Given the description of an element on the screen output the (x, y) to click on. 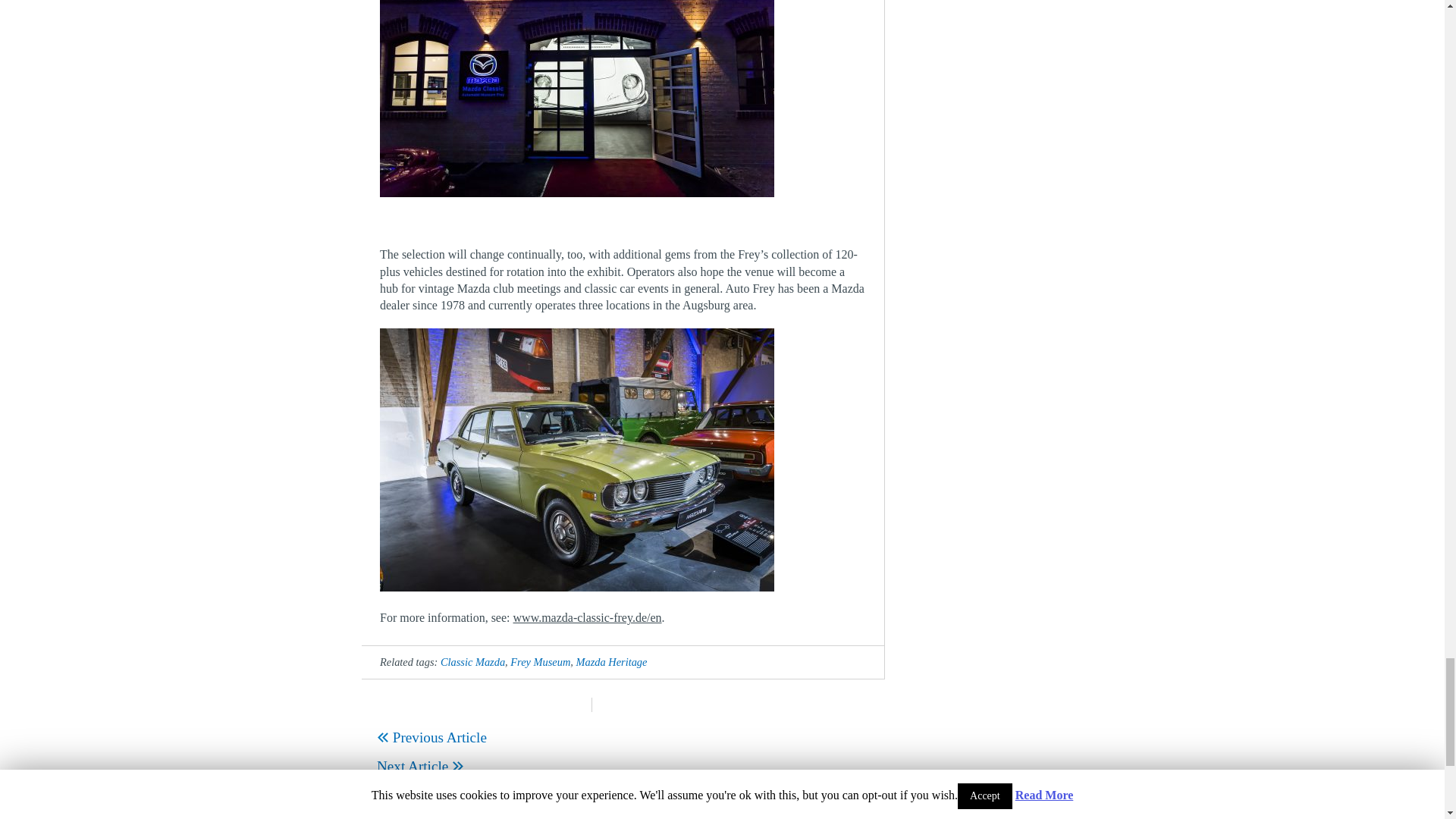
Classic Mazda (473, 662)
Previous Article (431, 737)
Frey Museum (540, 662)
Mazda Heritage (611, 662)
Next Article (420, 765)
